Given the description of an element on the screen output the (x, y) to click on. 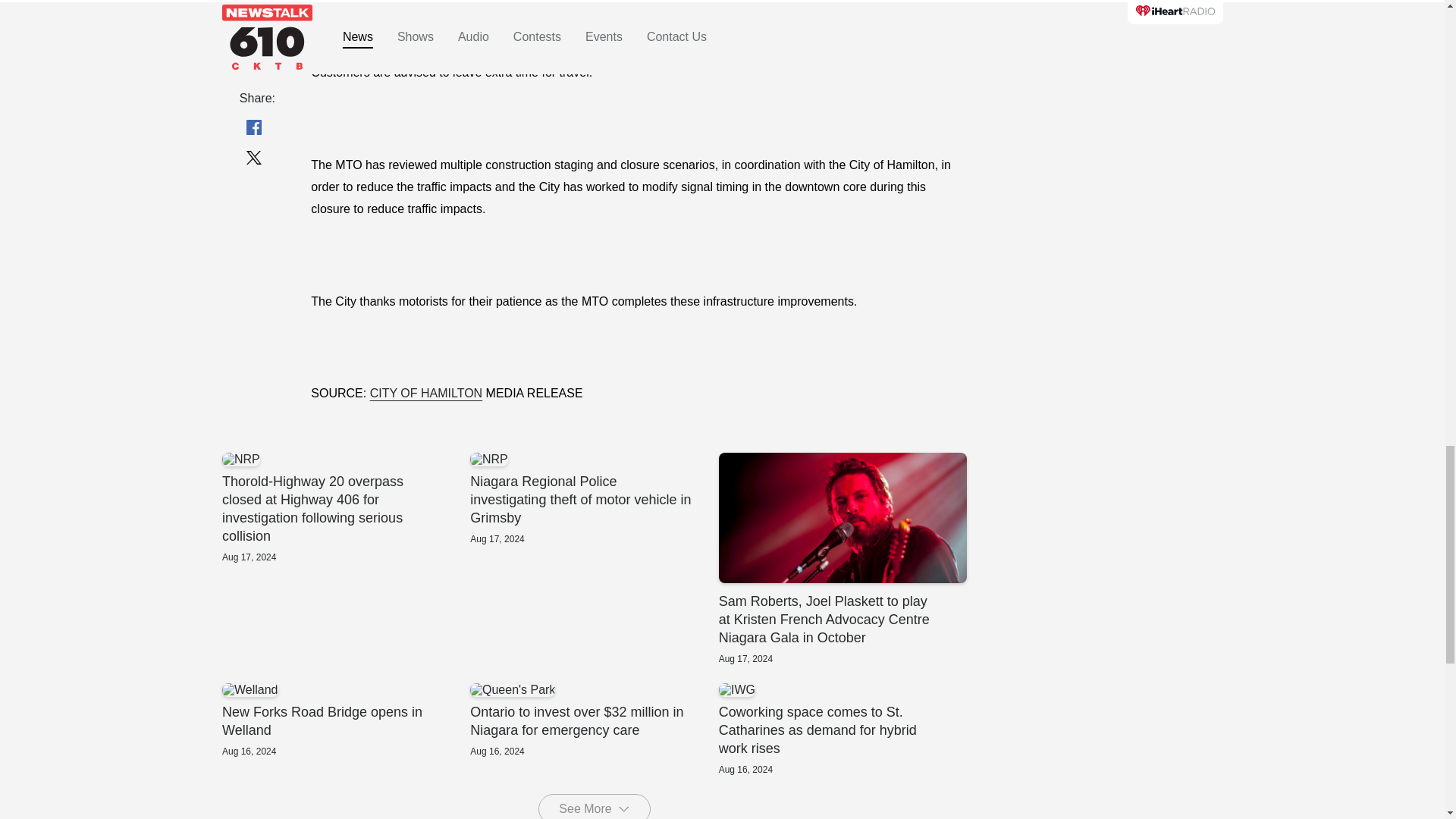
New Forks Road Bridge opens in Welland (344, 720)
CITY OF HAMILTON (344, 720)
